Given the description of an element on the screen output the (x, y) to click on. 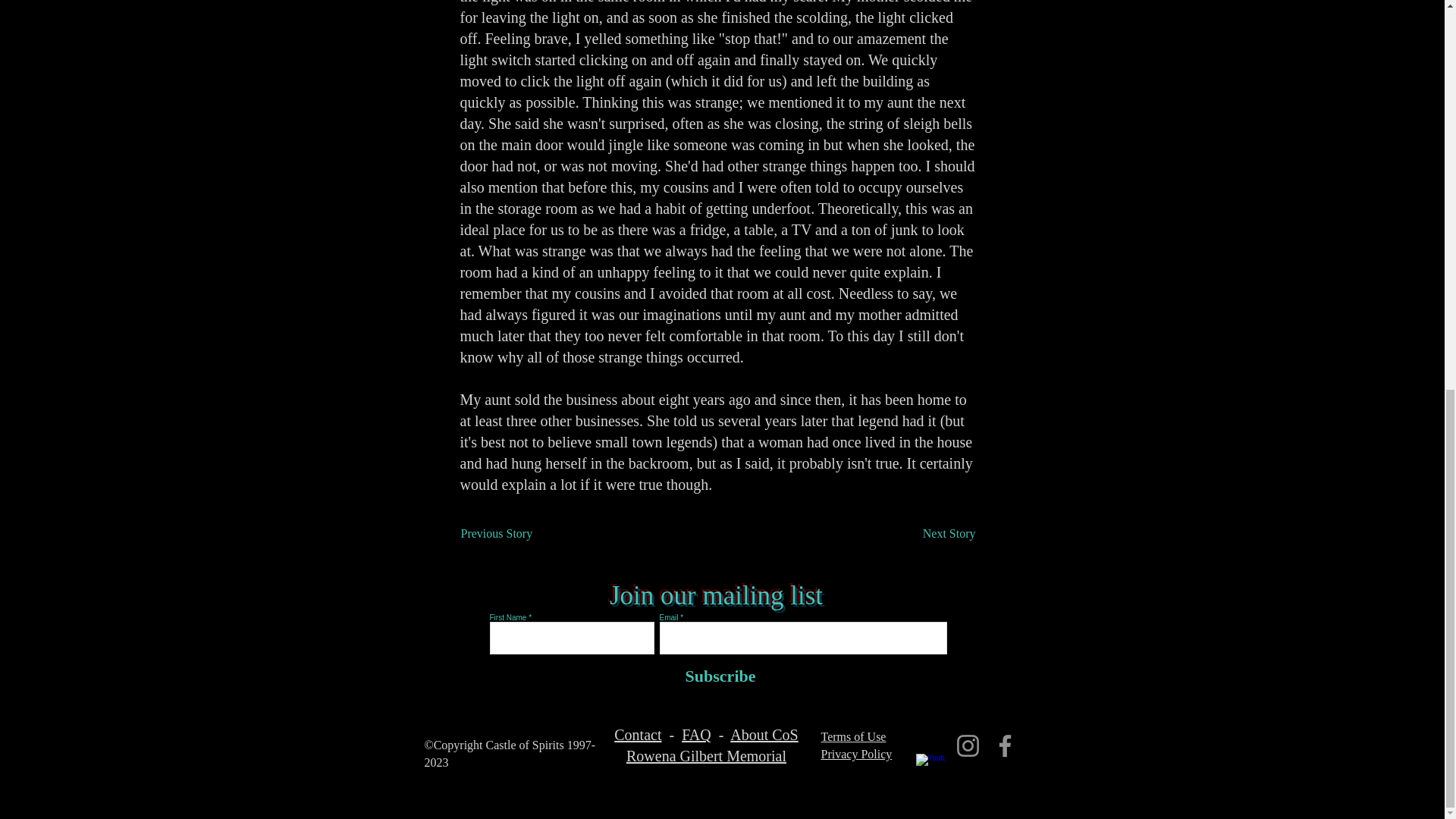
Subscribe (717, 676)
Rowena Gilbert Memorial (706, 755)
Terms of Use (853, 736)
Contact (637, 734)
About CoS (763, 734)
Privacy Policy (856, 753)
Next Story (937, 533)
Previous Story (510, 533)
FAQ (696, 734)
